Given the description of an element on the screen output the (x, y) to click on. 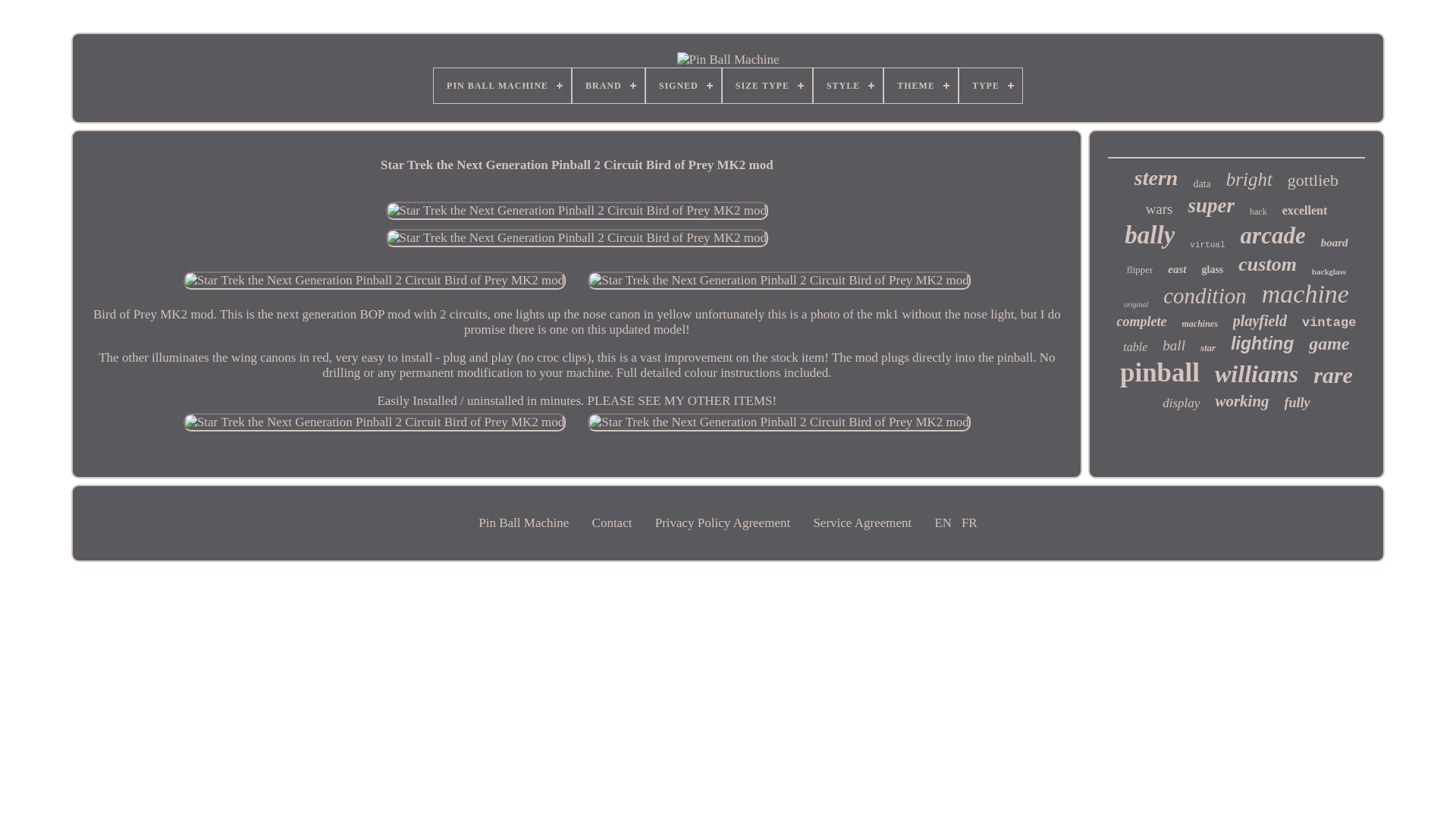
PIN BALL MACHINE (501, 85)
SIZE TYPE (767, 85)
SIGNED (683, 85)
BRAND (608, 85)
